Given the description of an element on the screen output the (x, y) to click on. 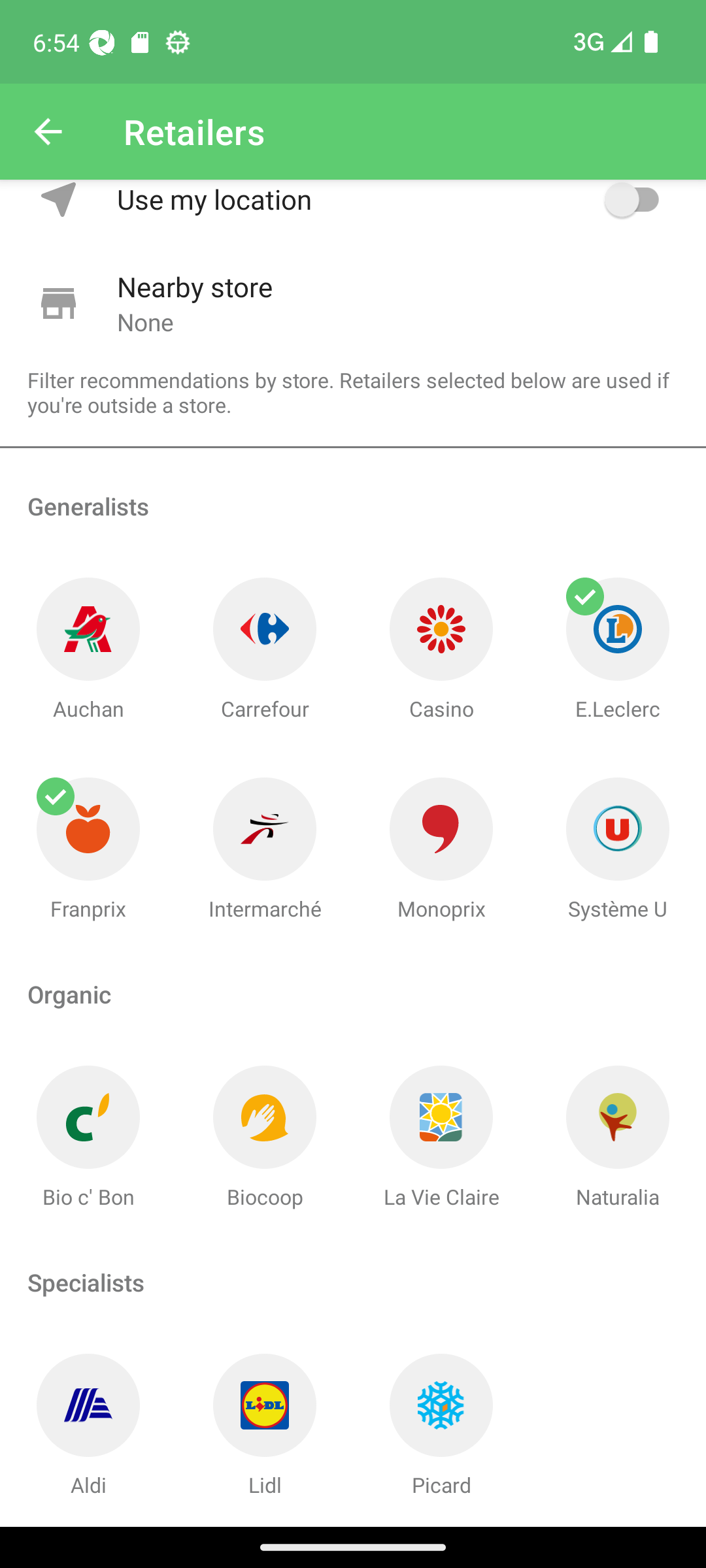
Navigate up (48, 131)
Use my location OFF (390, 209)
Auchan (88, 649)
Carrefour (264, 649)
Casino (441, 649)
E.Leclerc (617, 649)
Franprix (88, 849)
Intermarché (264, 849)
Monoprix (441, 849)
Système U (617, 849)
Bio c' Bon (88, 1138)
Biocoop (264, 1138)
La Vie Claire (441, 1138)
Naturalia (617, 1138)
Aldi (88, 1425)
Lidl (264, 1425)
Picard (441, 1425)
